Given the description of an element on the screen output the (x, y) to click on. 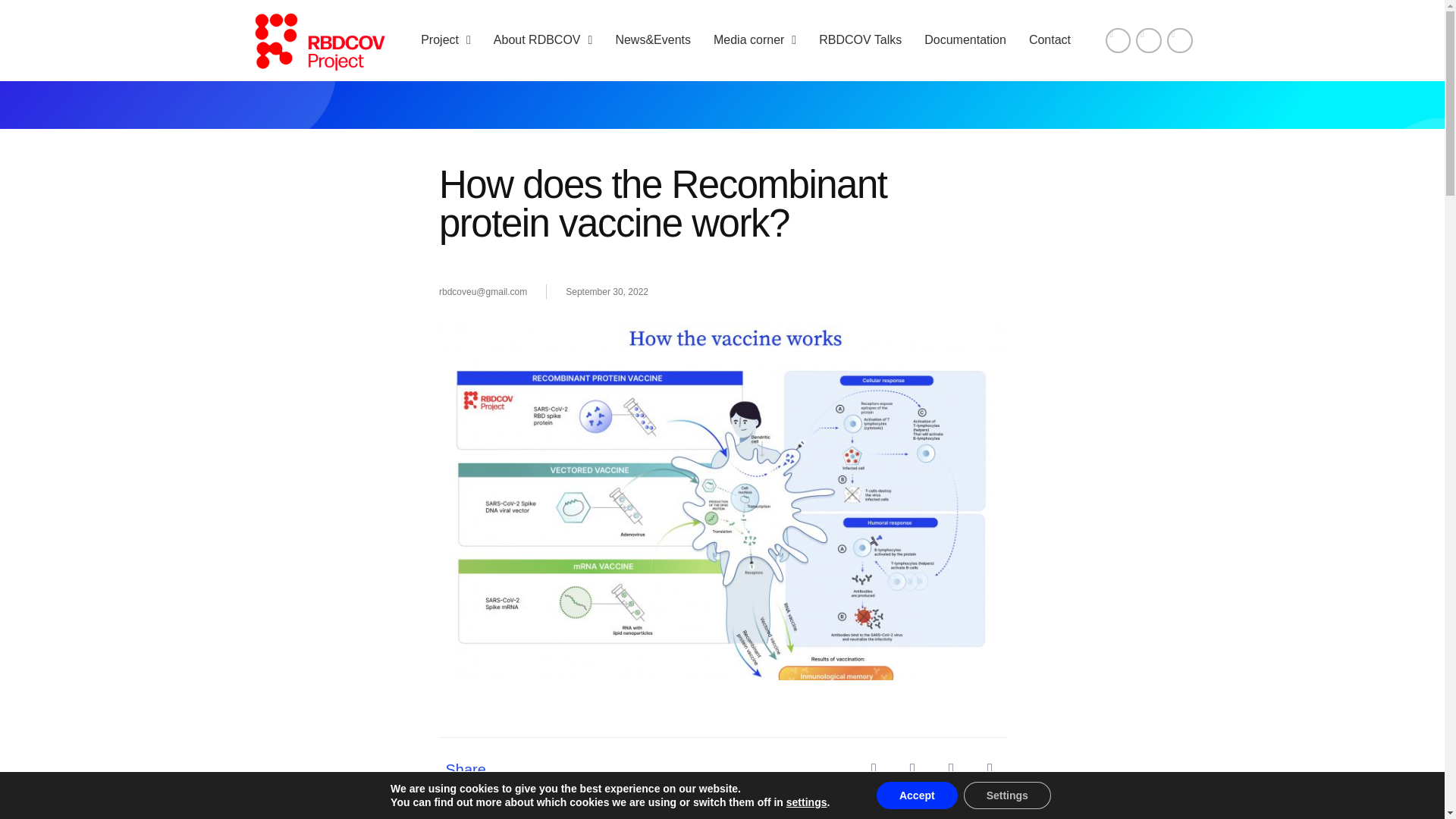
RBDCOV Talks (859, 40)
About RDBCOV (543, 40)
Documentation (965, 40)
Media corner (754, 40)
Project (445, 40)
Contact (1049, 40)
